Given the description of an element on the screen output the (x, y) to click on. 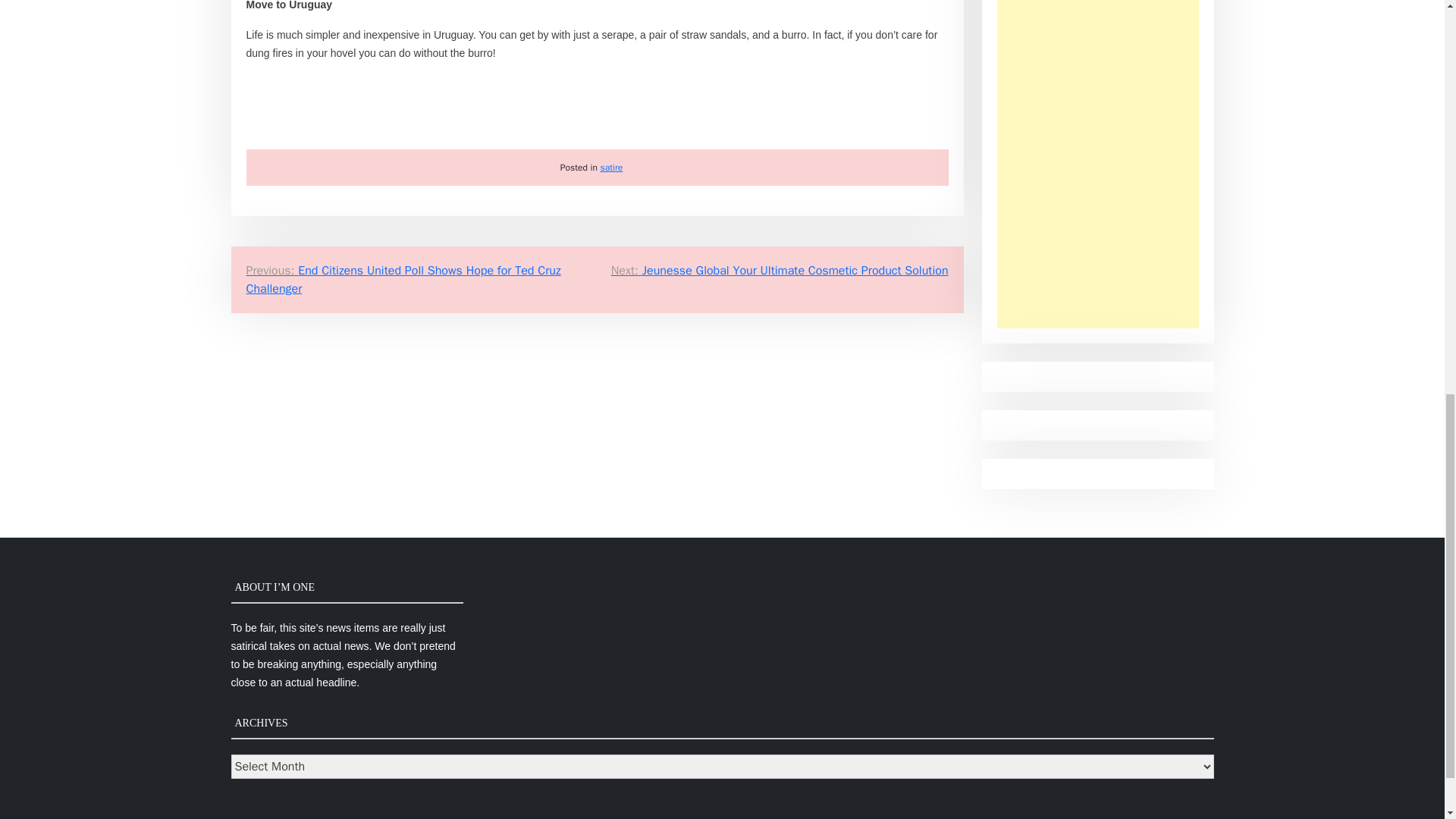
satire (611, 167)
